Given the description of an element on the screen output the (x, y) to click on. 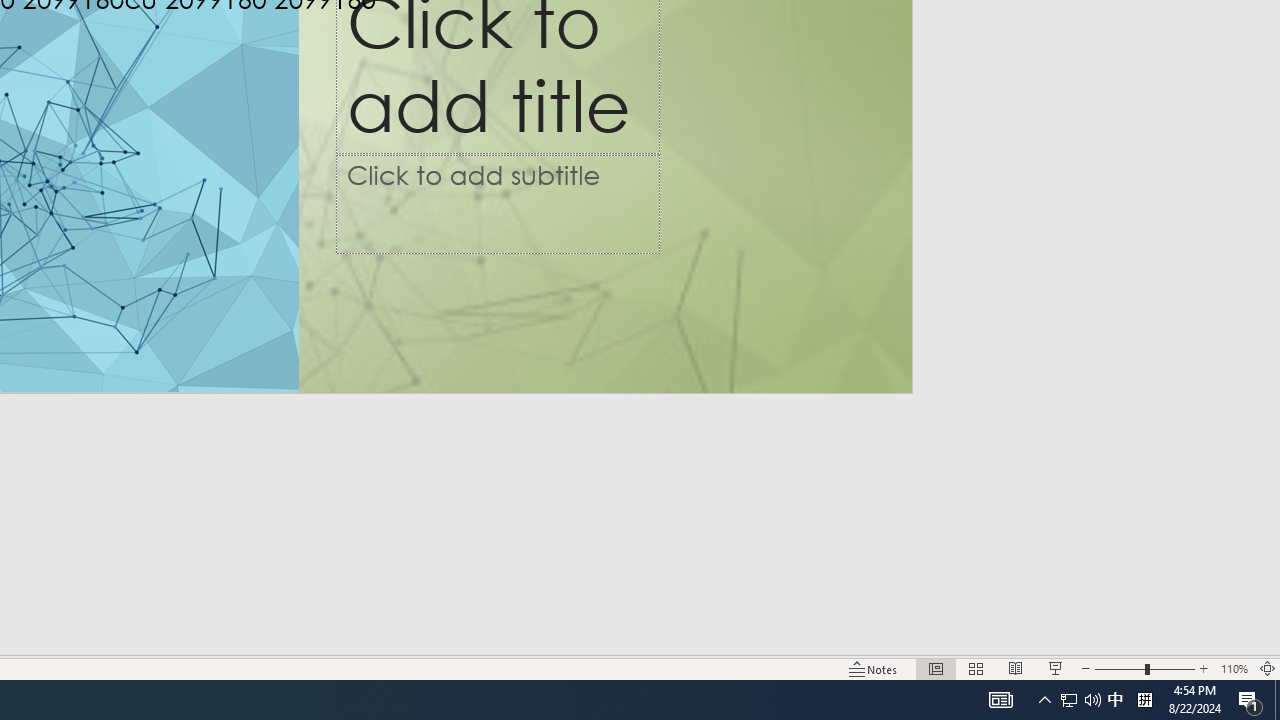
Zoom 110% (1234, 668)
